Given the description of an element on the screen output the (x, y) to click on. 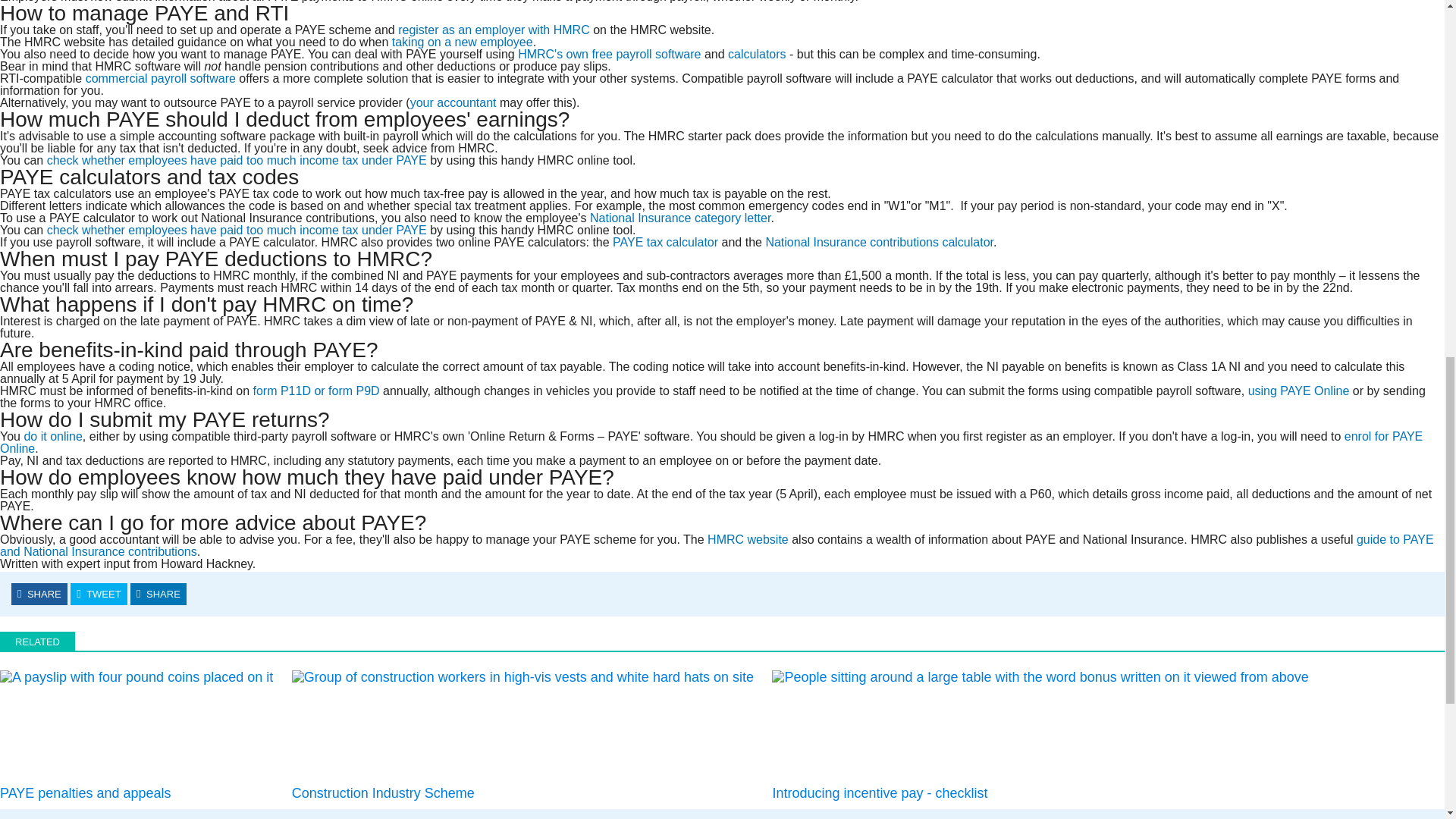
Taking on a new employee (461, 42)
Income tax checker tool on HMRC (236, 160)
Register as an employer with HMRC (493, 29)
HMRC's own free payroll software (609, 53)
National Insurance category letter (679, 217)
National Insurance contributions calculator (878, 241)
Your accountant (453, 102)
End-of-year forms from HMRC (314, 390)
Online PAYE (1298, 390)
Commercial payroll software (160, 78)
